Given the description of an element on the screen output the (x, y) to click on. 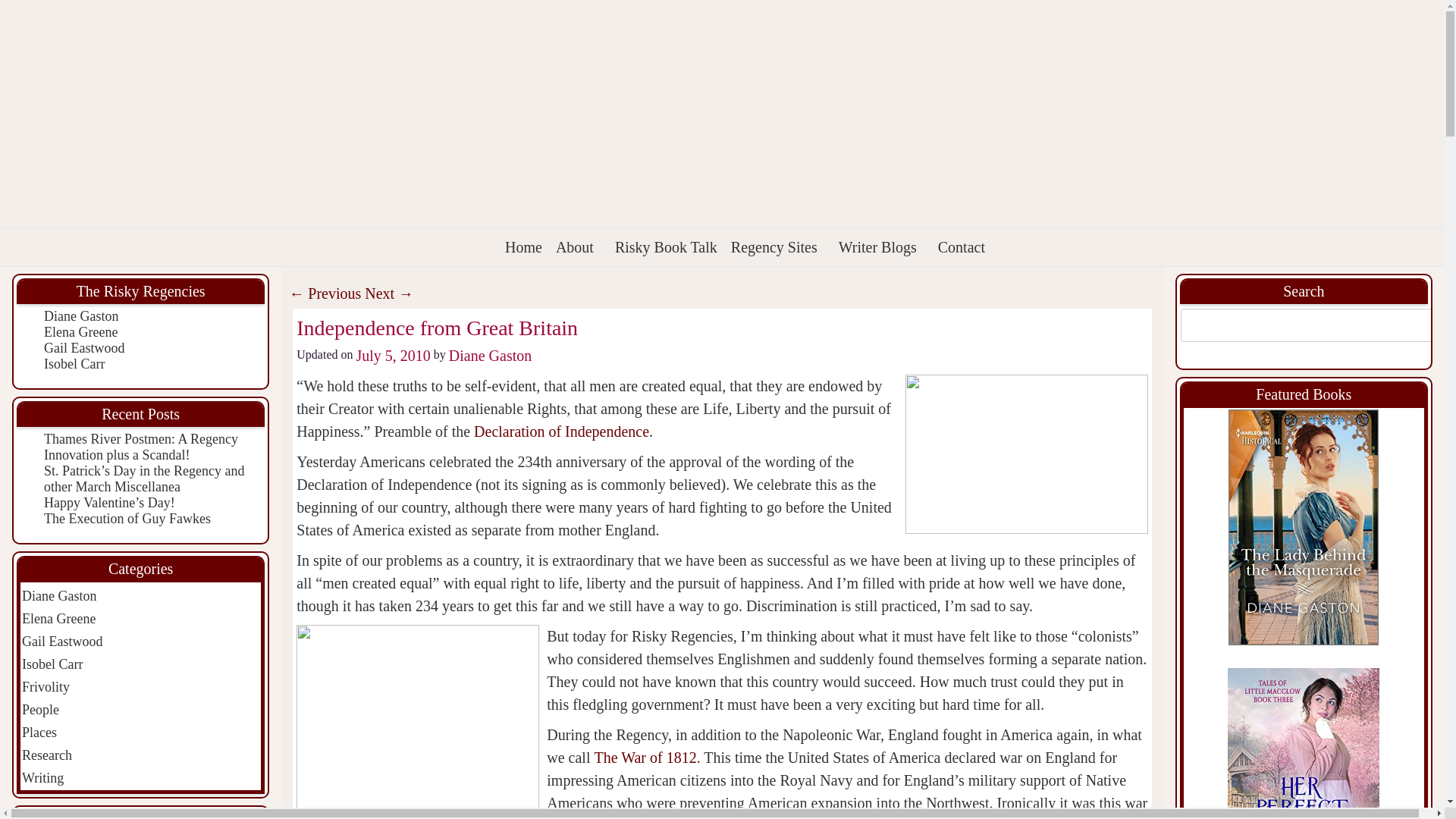
The website of romance author Isobel Carr (73, 363)
Permalink to Independence from Great Britain (437, 327)
Contact (961, 247)
Regency Sites (778, 247)
Home (523, 247)
Gail Eastwood (83, 347)
About (578, 247)
View all posts by Diane Gaston (489, 355)
Thames River Postmen: A Regency Innovation plus a Scandal! (140, 446)
Risky Book Talk (665, 247)
